Given the description of an element on the screen output the (x, y) to click on. 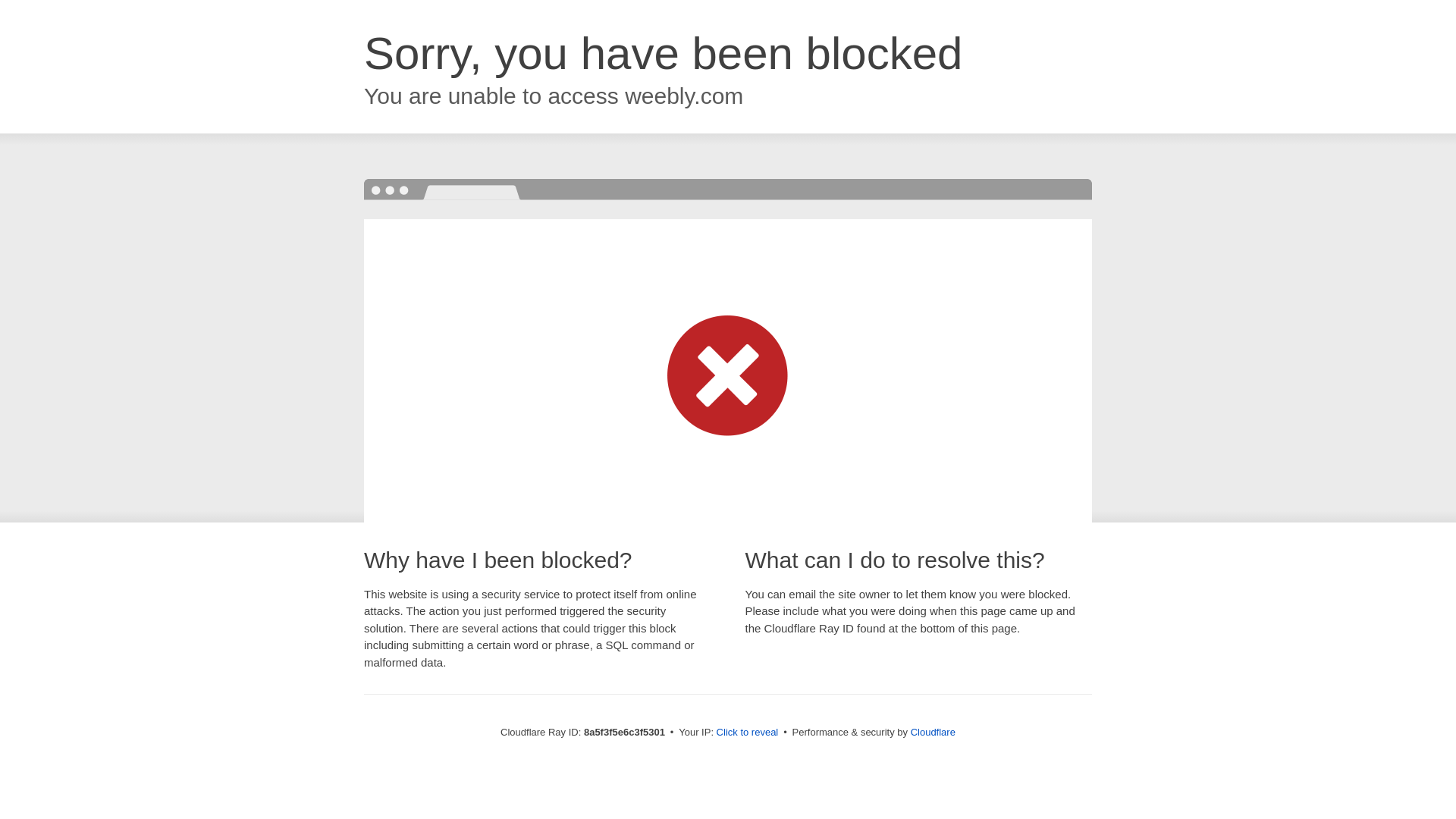
Click to reveal (747, 732)
Cloudflare (933, 731)
